Given the description of an element on the screen output the (x, y) to click on. 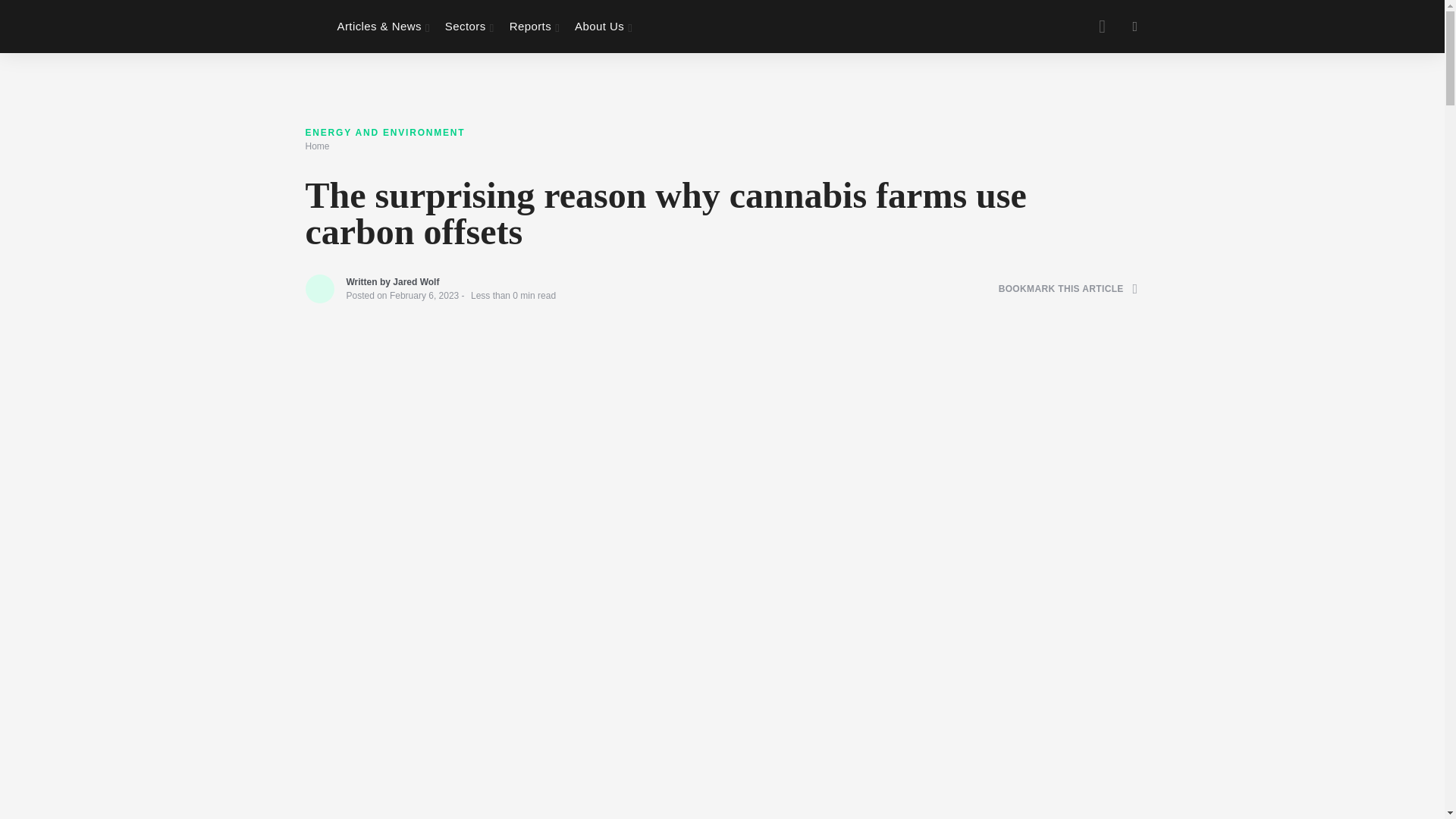
Sectors (470, 26)
Sectors (470, 26)
ENERGY AND ENVIRONMENT (384, 132)
Reports (534, 26)
About Us (603, 26)
February 6, 2023 (424, 295)
Home (316, 145)
Jared Wolf (416, 281)
